Given the description of an element on the screen output the (x, y) to click on. 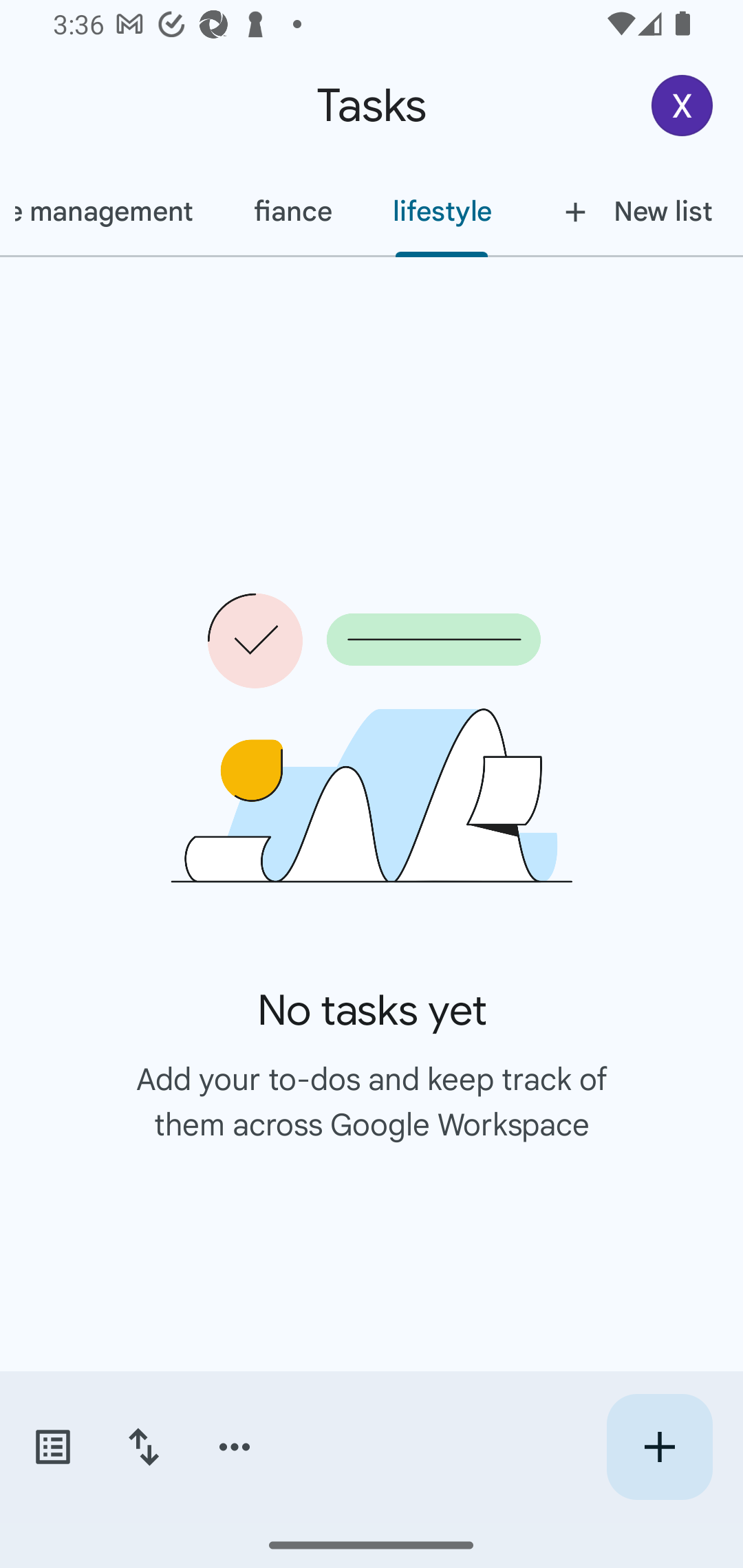
home management (111, 211)
fiance (291, 211)
New list (632, 211)
Switch task lists (52, 1447)
Create new task (659, 1446)
Change sort order (143, 1446)
More options (234, 1446)
